Given the description of an element on the screen output the (x, y) to click on. 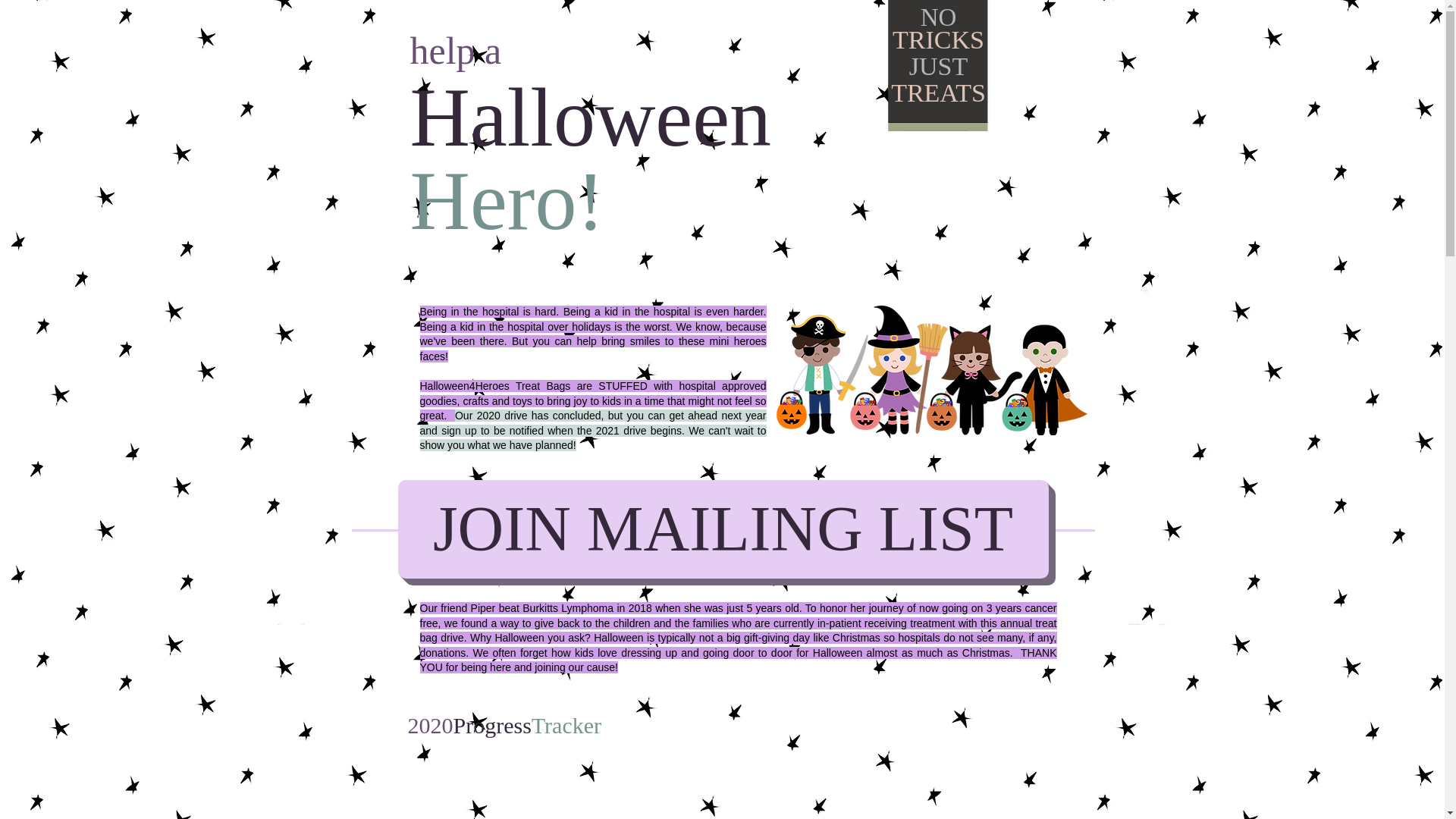
trick-or-treat-halloween-kids-clipart.pn (931, 369)
JOIN MAILING LIST (722, 528)
